Given the description of an element on the screen output the (x, y) to click on. 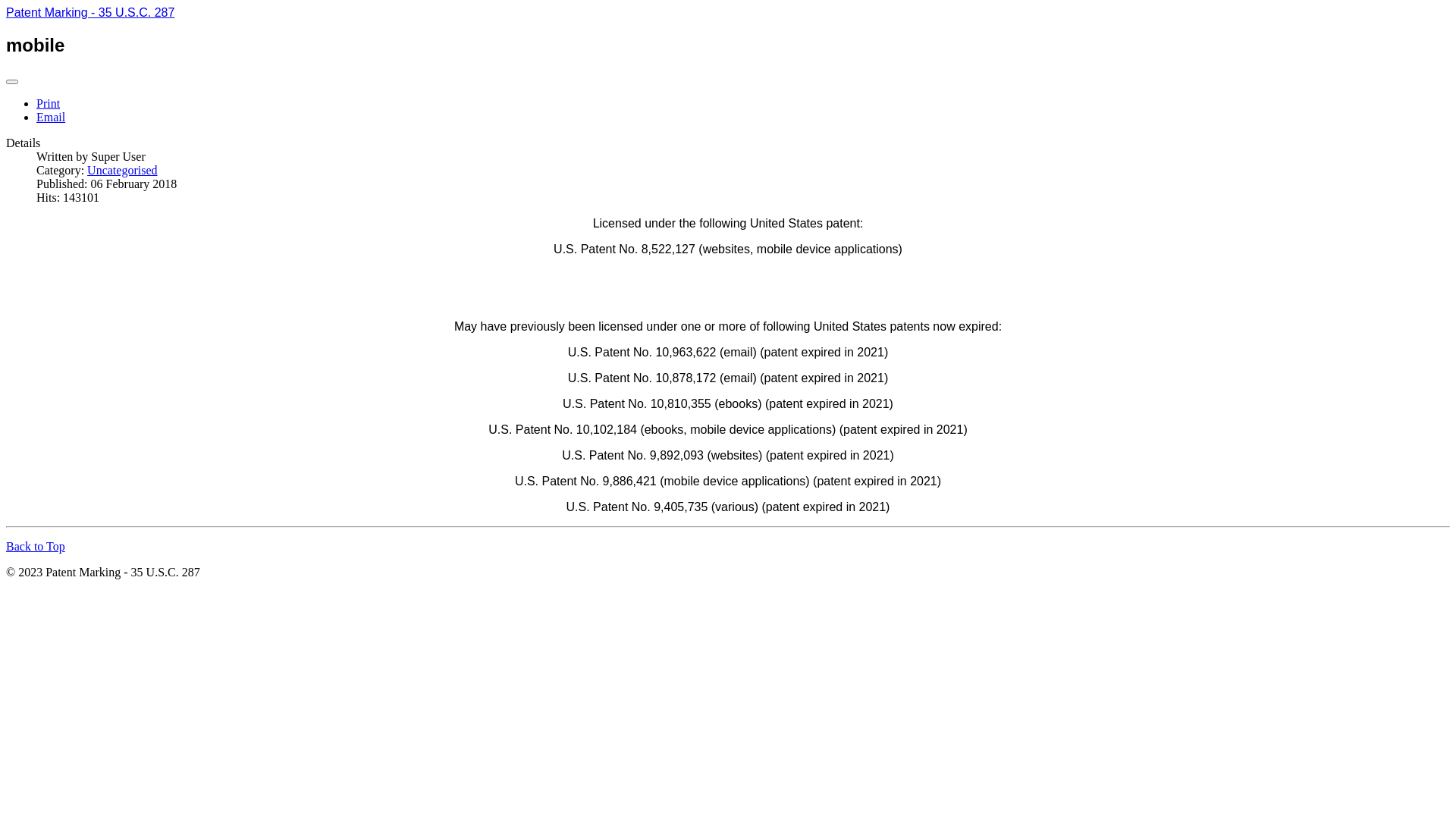
Back to Top Element type: text (35, 545)
Email Element type: text (50, 116)
Uncategorised Element type: text (121, 169)
Print Element type: text (47, 103)
Patent Marking - 35 U.S.C. 287 Element type: text (90, 12)
